Given the description of an element on the screen output the (x, y) to click on. 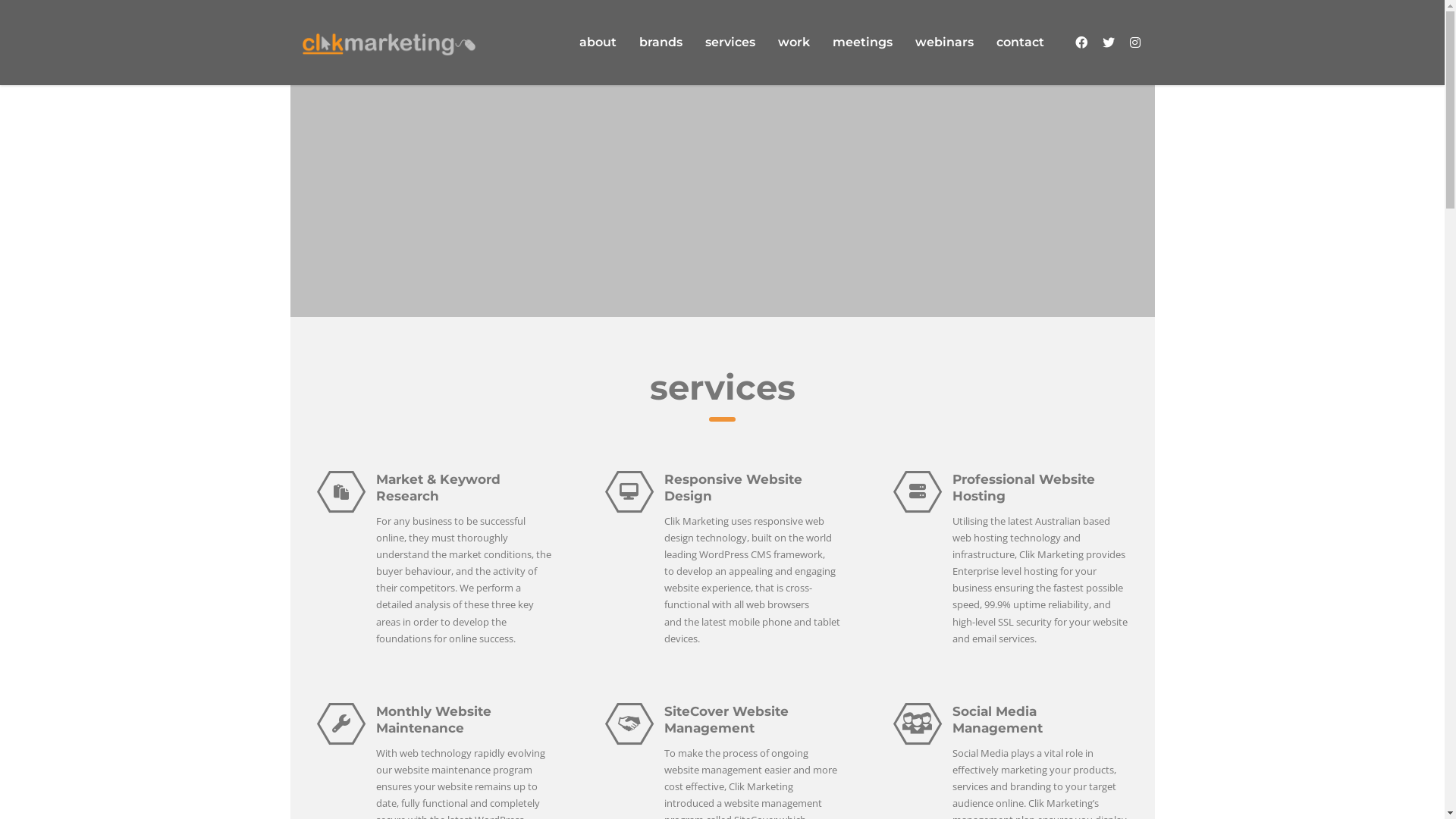
  Element type: text (1082, 42)
contact Element type: text (1019, 42)
services Element type: text (729, 42)
about Element type: text (597, 42)
brands Element type: text (660, 42)
  Element type: text (1136, 42)
work Element type: text (792, 42)
webinars Element type: text (944, 42)
contact us Element type: text (1088, 30)
  Element type: text (1109, 42)
meetings Element type: text (861, 42)
